Given the description of an element on the screen output the (x, y) to click on. 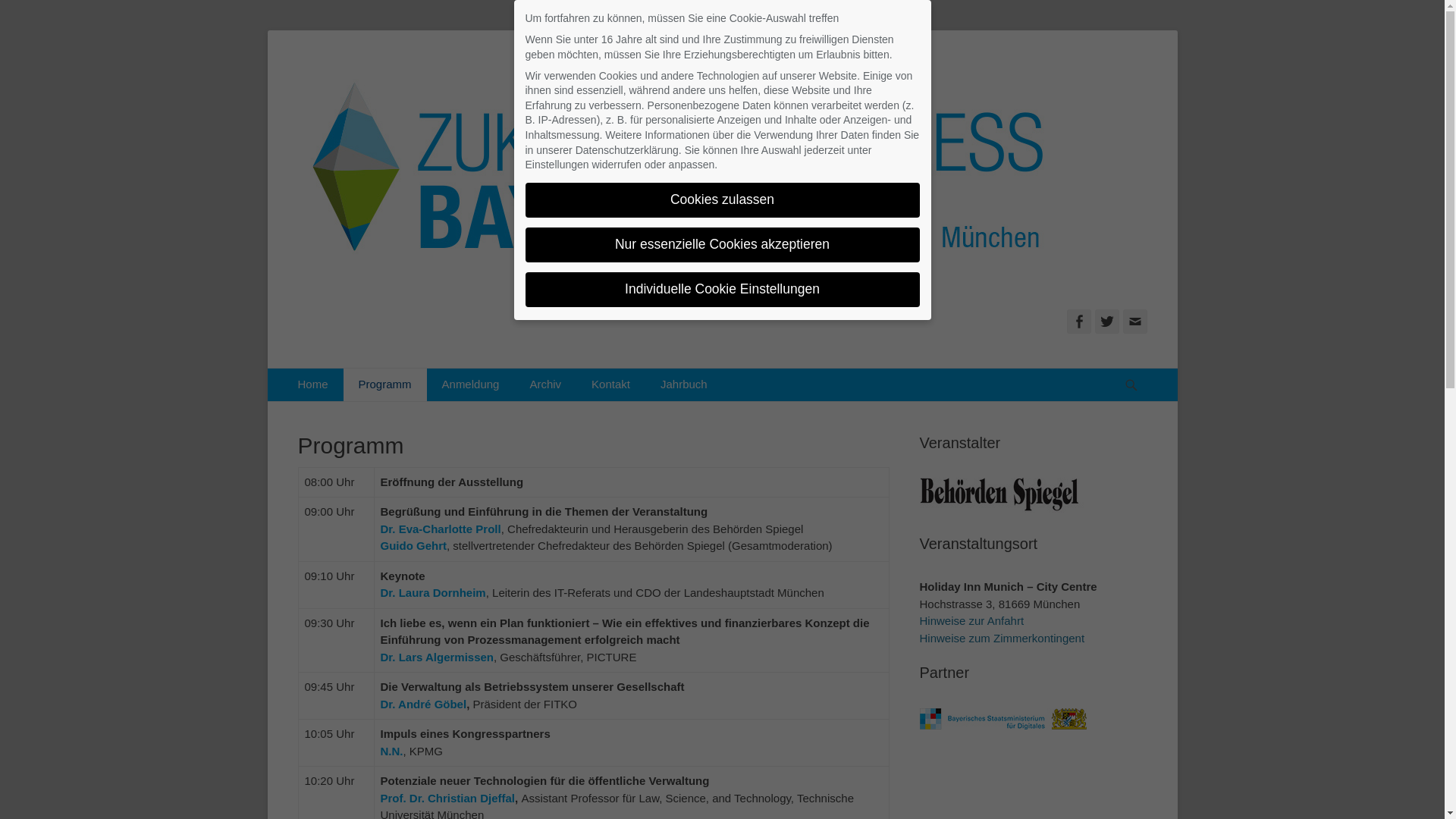
Jahrbuch Element type: text (683, 384)
Suche Element type: text (1139, 368)
Anmeldung Element type: text (470, 384)
Home Element type: text (312, 384)
Kontakt Element type: text (610, 384)
Nur essenzielle Cookies akzeptieren Element type: text (721, 244)
Individuelle Cookie Einstellungen Element type: text (721, 289)
Facebook Element type: text (1078, 321)
Archiv Element type: text (545, 384)
Cookies zulassen Element type: text (721, 199)
Programm Element type: text (384, 384)
Twitter Element type: text (1107, 321)
Einstellungen Element type: text (556, 164)
Hinweise zum Zimmerkontingent Element type: text (1001, 636)
Hinweise zur Anfahrt Element type: text (971, 620)
Email Element type: text (1134, 321)
